Given the description of an element on the screen output the (x, y) to click on. 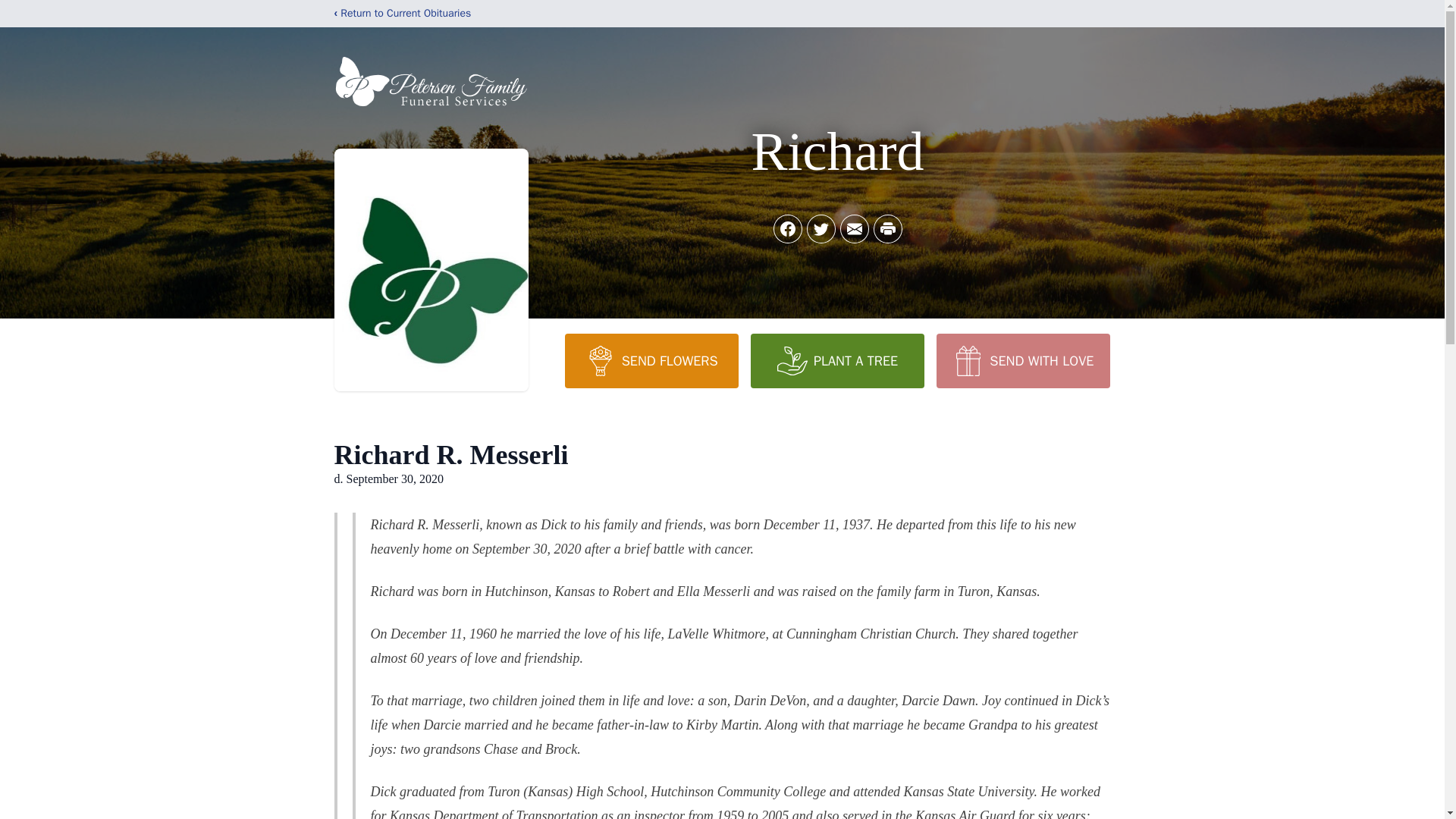
PLANT A TREE (837, 360)
SEND FLOWERS (651, 360)
SEND WITH LOVE (1022, 360)
